Given the description of an element on the screen output the (x, y) to click on. 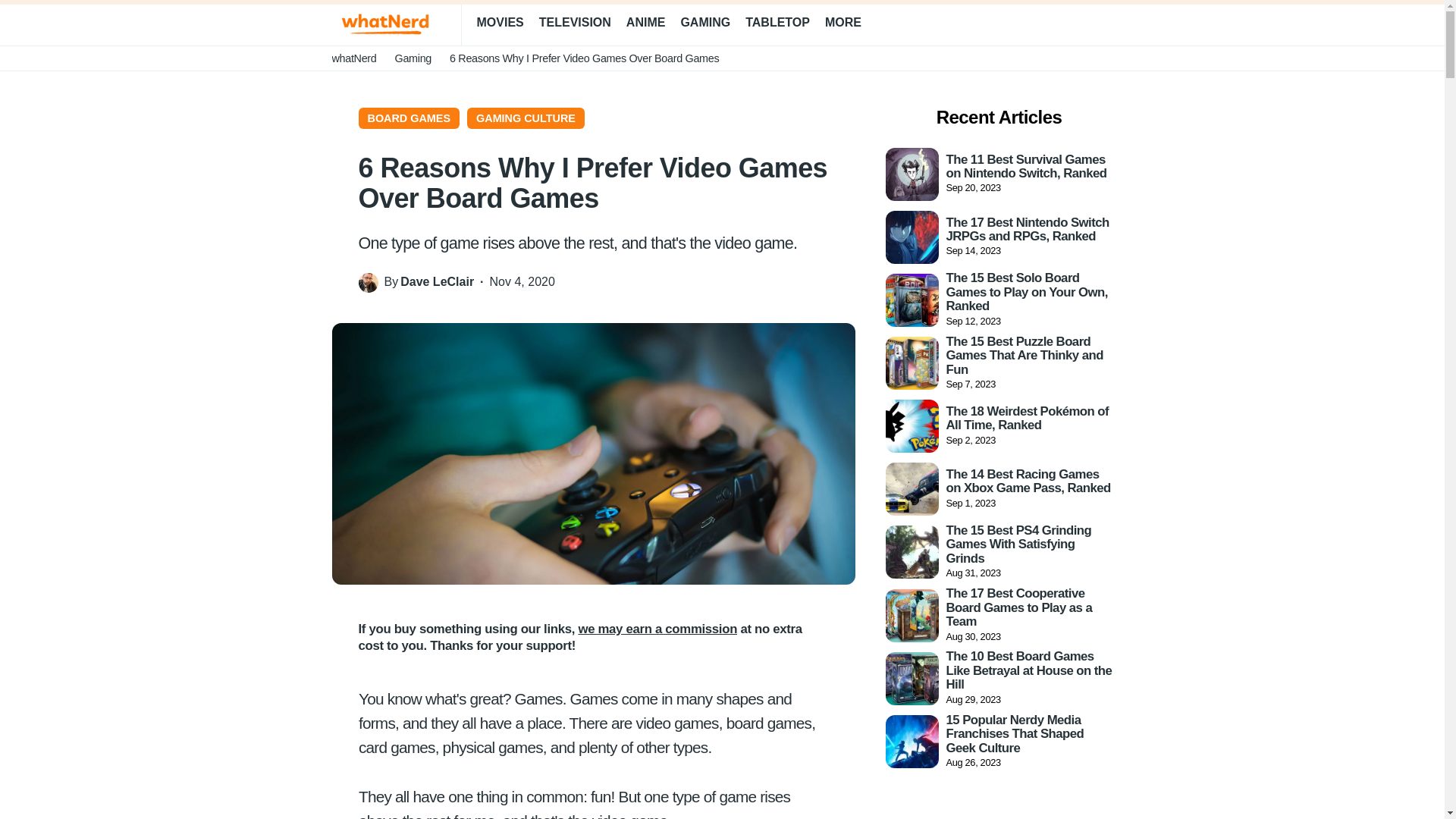
View all posts by Dave LeClair (437, 281)
MORE (850, 22)
GAMING (704, 22)
MOVIES (499, 22)
TELEVISION (574, 22)
TABLETOP (777, 22)
whatNerd (354, 57)
